Given the description of an element on the screen output the (x, y) to click on. 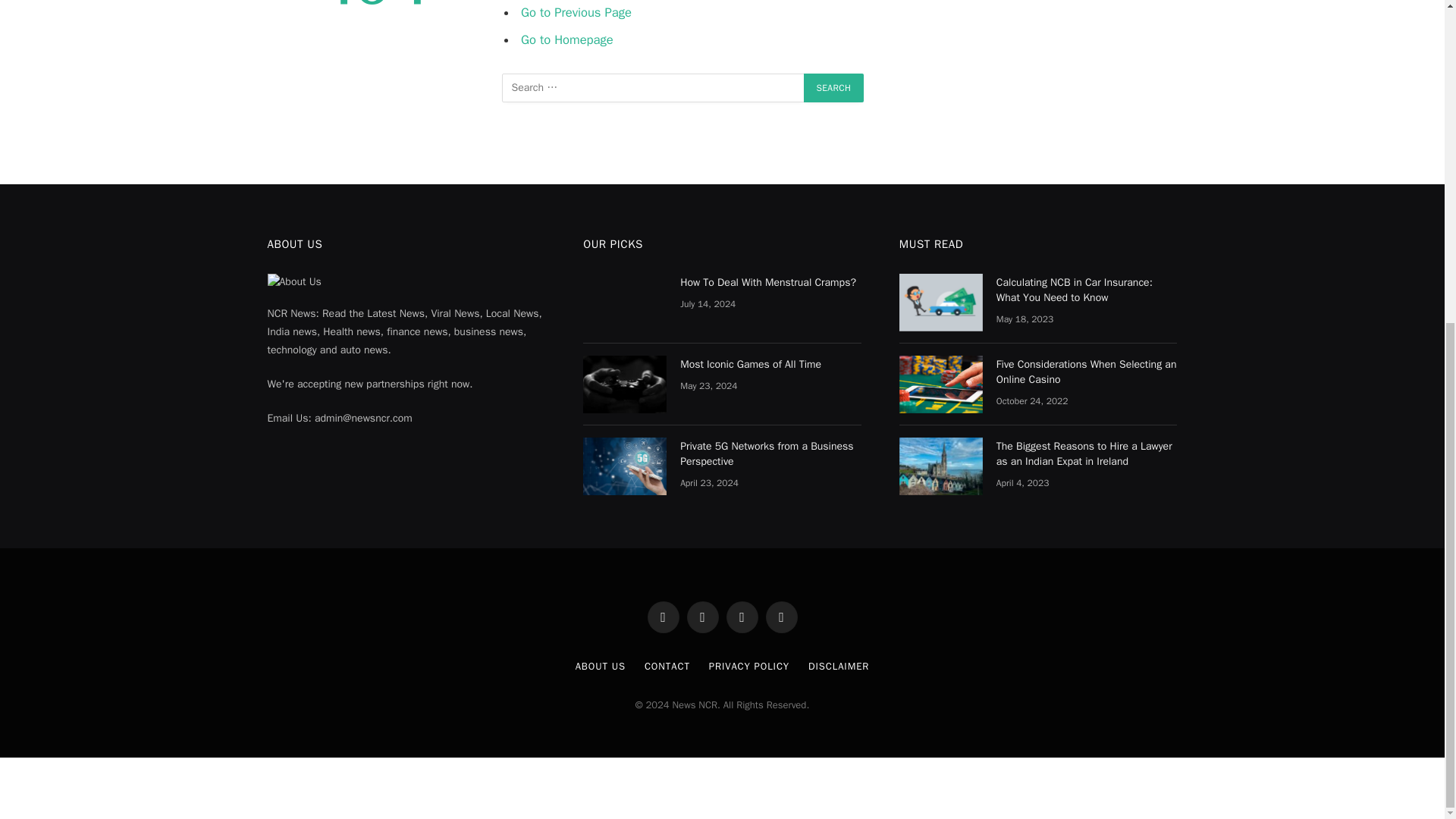
Calculating NCB in Car Insurance: What You Need to Know (940, 302)
How To Deal With Menstrual Cramps? (624, 302)
Most Iconic Games of All Time (624, 384)
Five Considerations When Selecting an Online Casino (940, 384)
Private 5G Networks from a Business Perspective (624, 466)
Search (833, 87)
Search (833, 87)
